Given the description of an element on the screen output the (x, y) to click on. 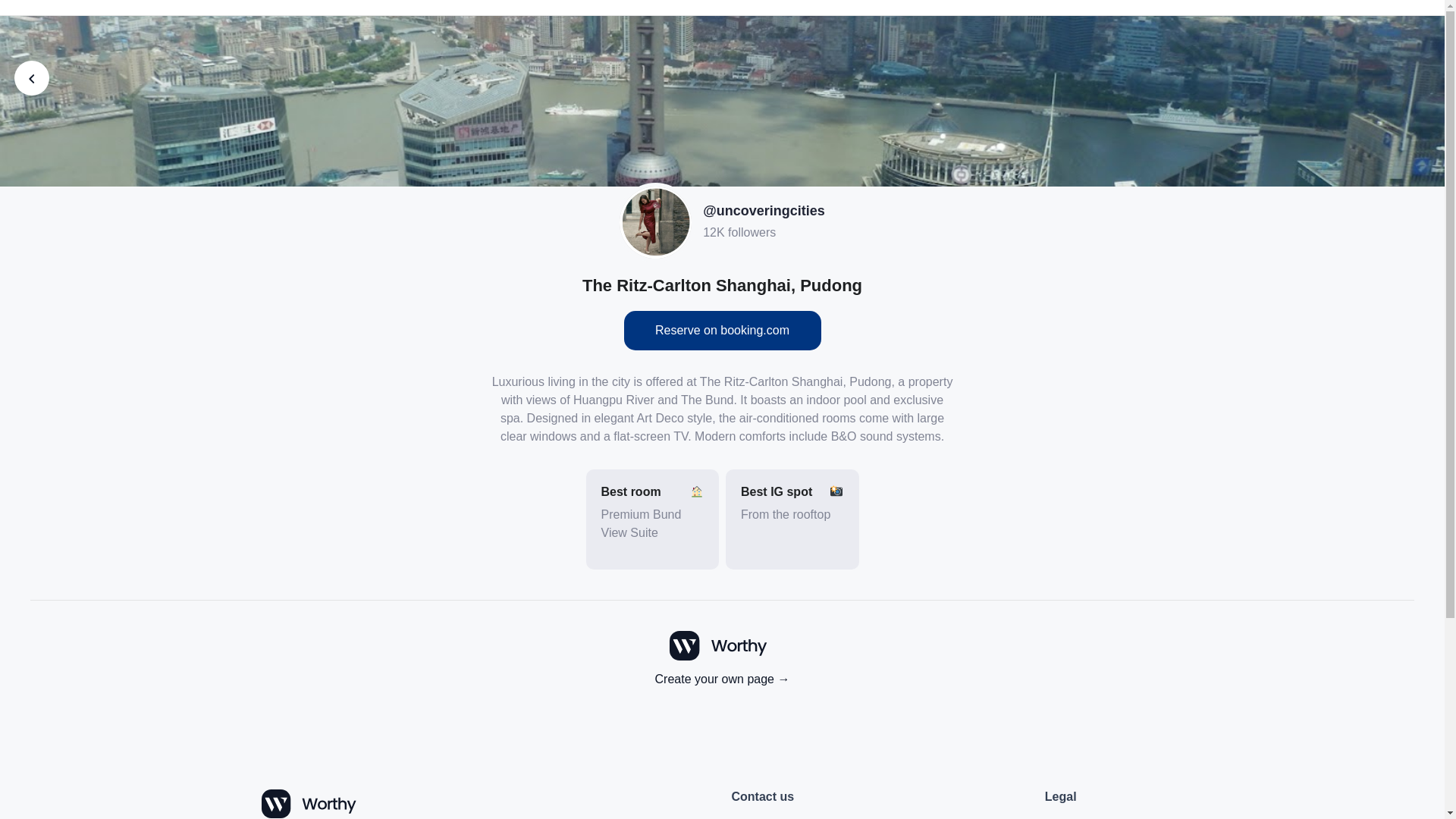
Reserve on booking.com (722, 330)
